Given the description of an element on the screen output the (x, y) to click on. 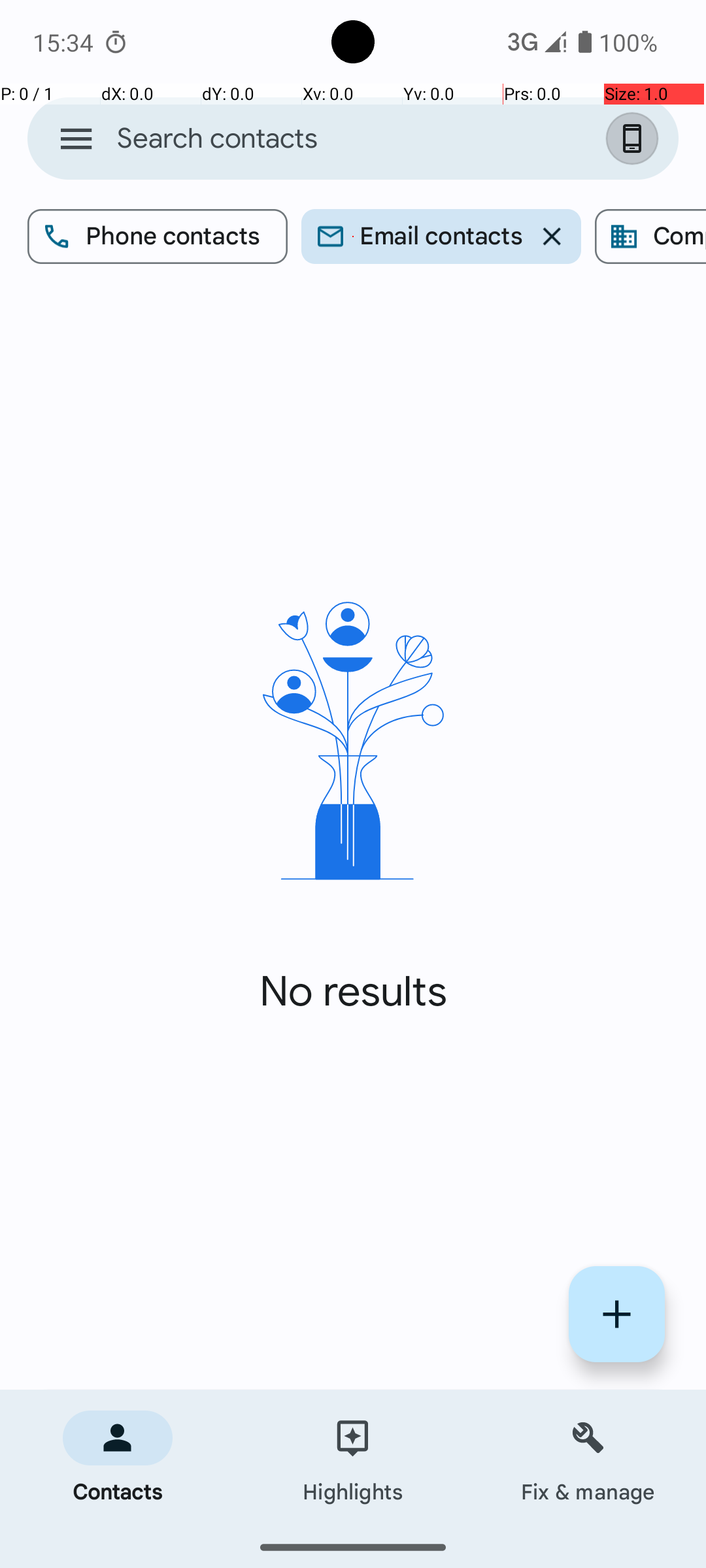
Create contact Element type: android.widget.ImageButton (616, 1314)
Contacts Element type: android.widget.FrameLayout (117, 1457)
Highlights Element type: android.widget.FrameLayout (352, 1457)
Fix & manage Element type: android.widget.FrameLayout (588, 1457)
Open navigation drawer Element type: android.widget.ImageButton (75, 138)
Signed in as Device
Account and settings. Element type: android.widget.FrameLayout (634, 138)
No results Element type: android.widget.TextView (353, 991)
Phone contacts Element type: android.widget.Button (157, 236)
Email contacts Element type: android.widget.Button (441, 236)
Company Element type: android.widget.Button (650, 236)
